Given the description of an element on the screen output the (x, y) to click on. 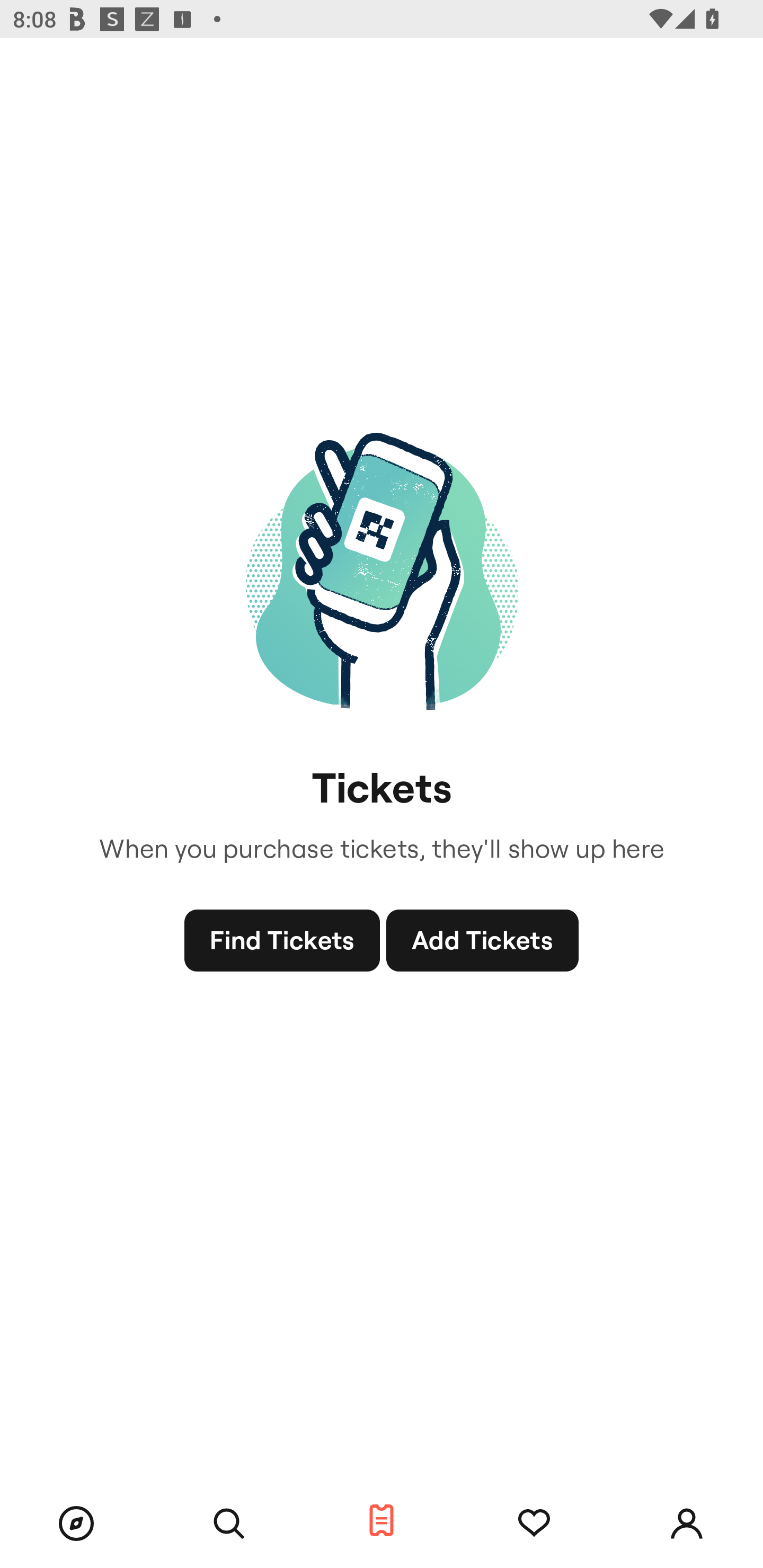
Find Tickets (281, 940)
Add Tickets (482, 940)
Browse (76, 1523)
Search (228, 1523)
Tickets (381, 1521)
Tracking (533, 1523)
Account (686, 1523)
